Given the description of an element on the screen output the (x, y) to click on. 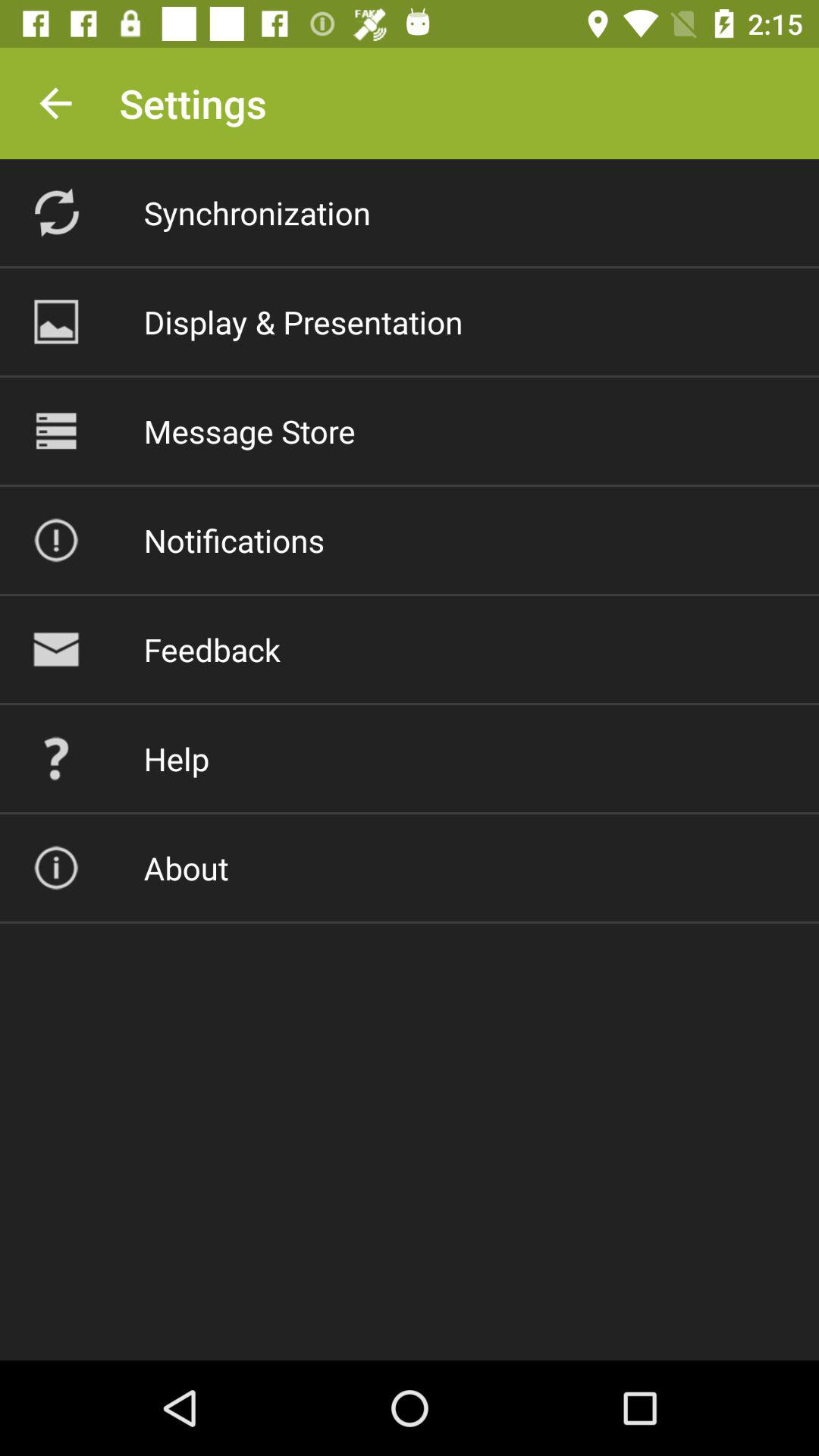
scroll to display & presentation icon (302, 321)
